Given the description of an element on the screen output the (x, y) to click on. 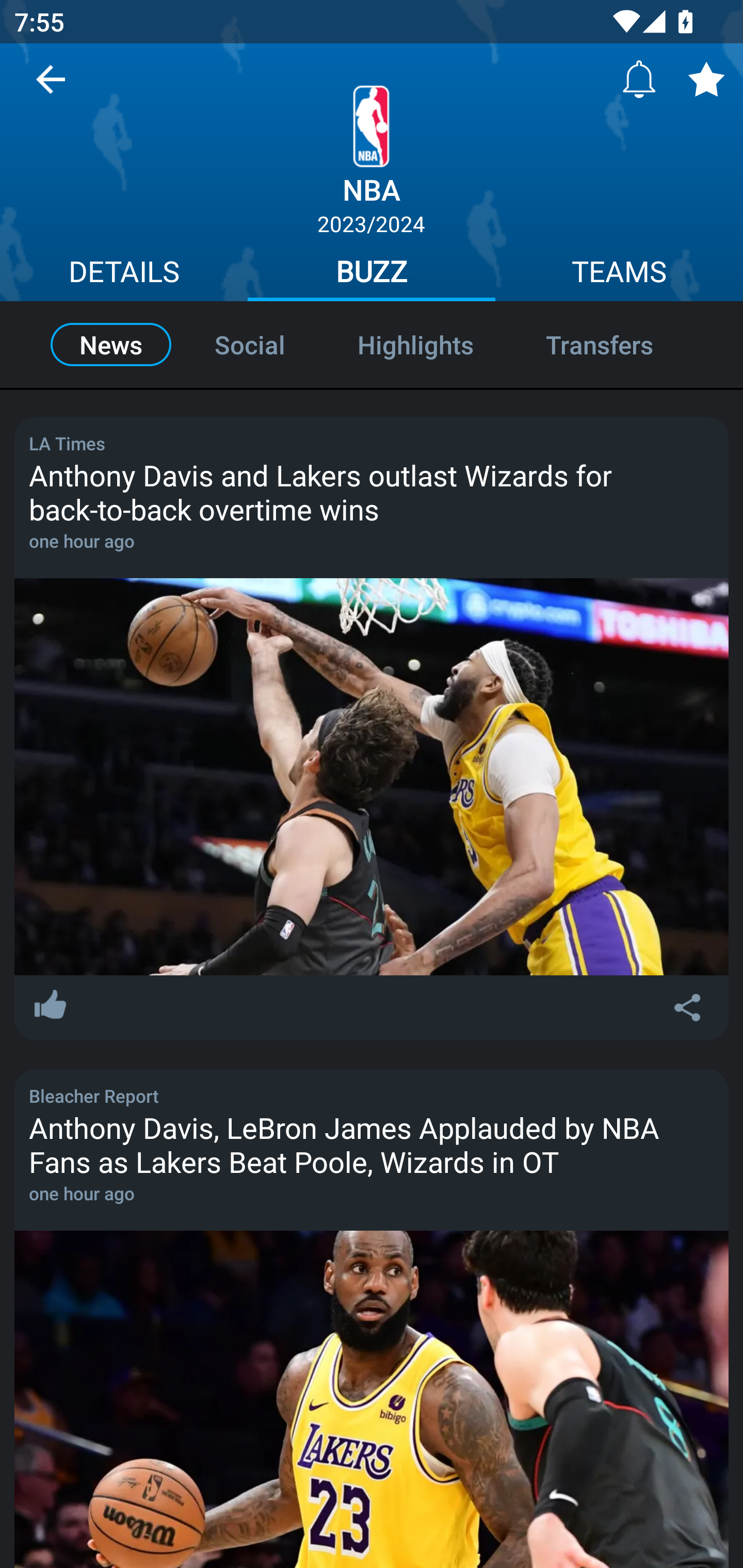
Navigate up (50, 86)
DETAILS (123, 274)
BUZZ (371, 274)
TEAMS (619, 274)
Social (249, 344)
Highlights (415, 344)
Transfers (621, 344)
